Given the description of an element on the screen output the (x, y) to click on. 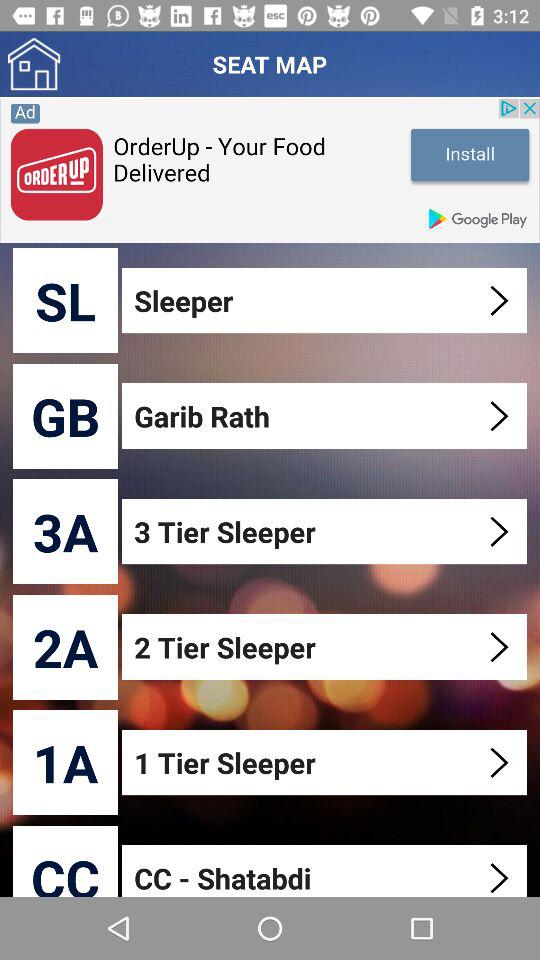
tap the item to the right of the gb item (326, 415)
